Given the description of an element on the screen output the (x, y) to click on. 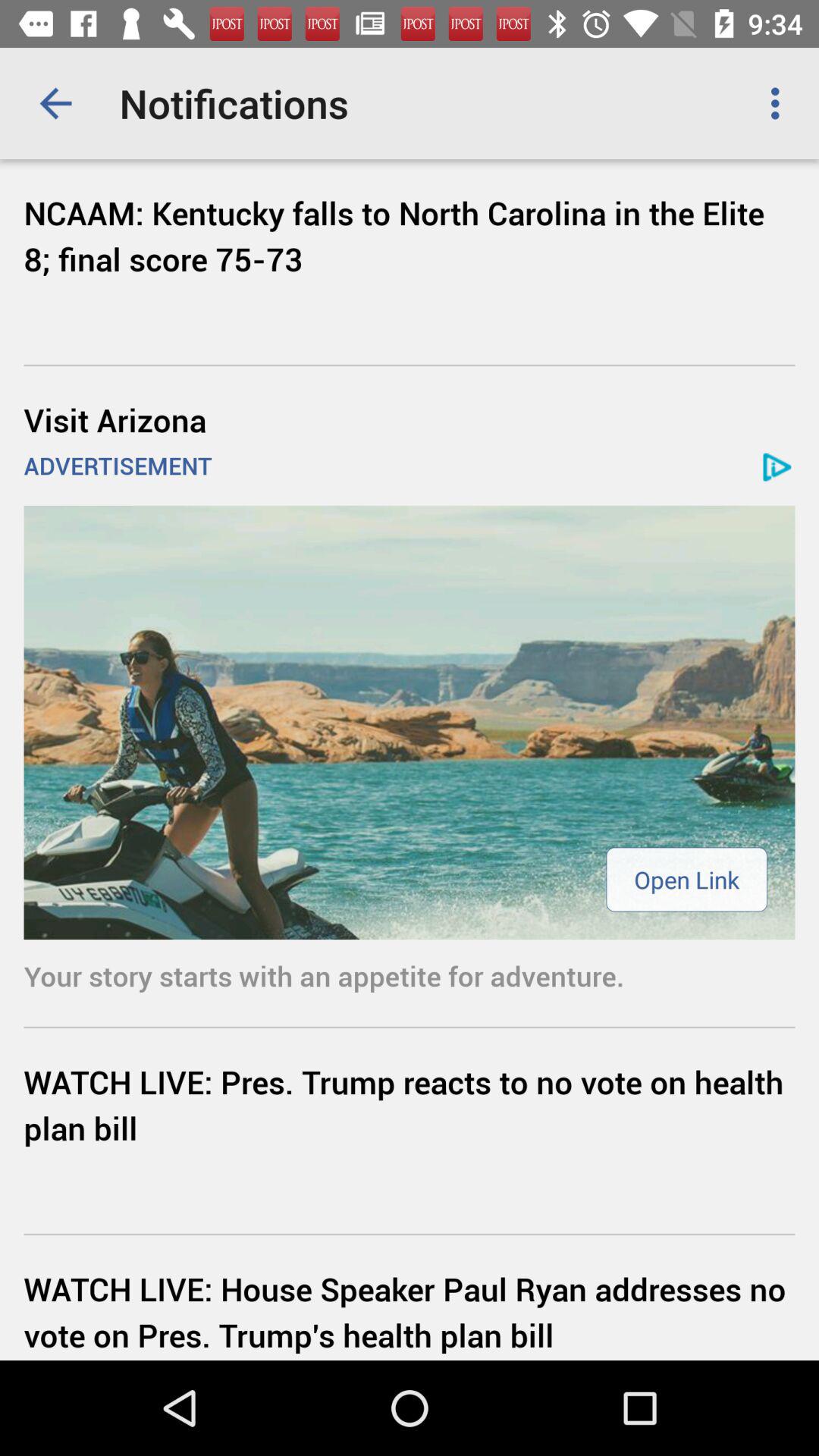
press app to the left of the notifications app (55, 103)
